Given the description of an element on the screen output the (x, y) to click on. 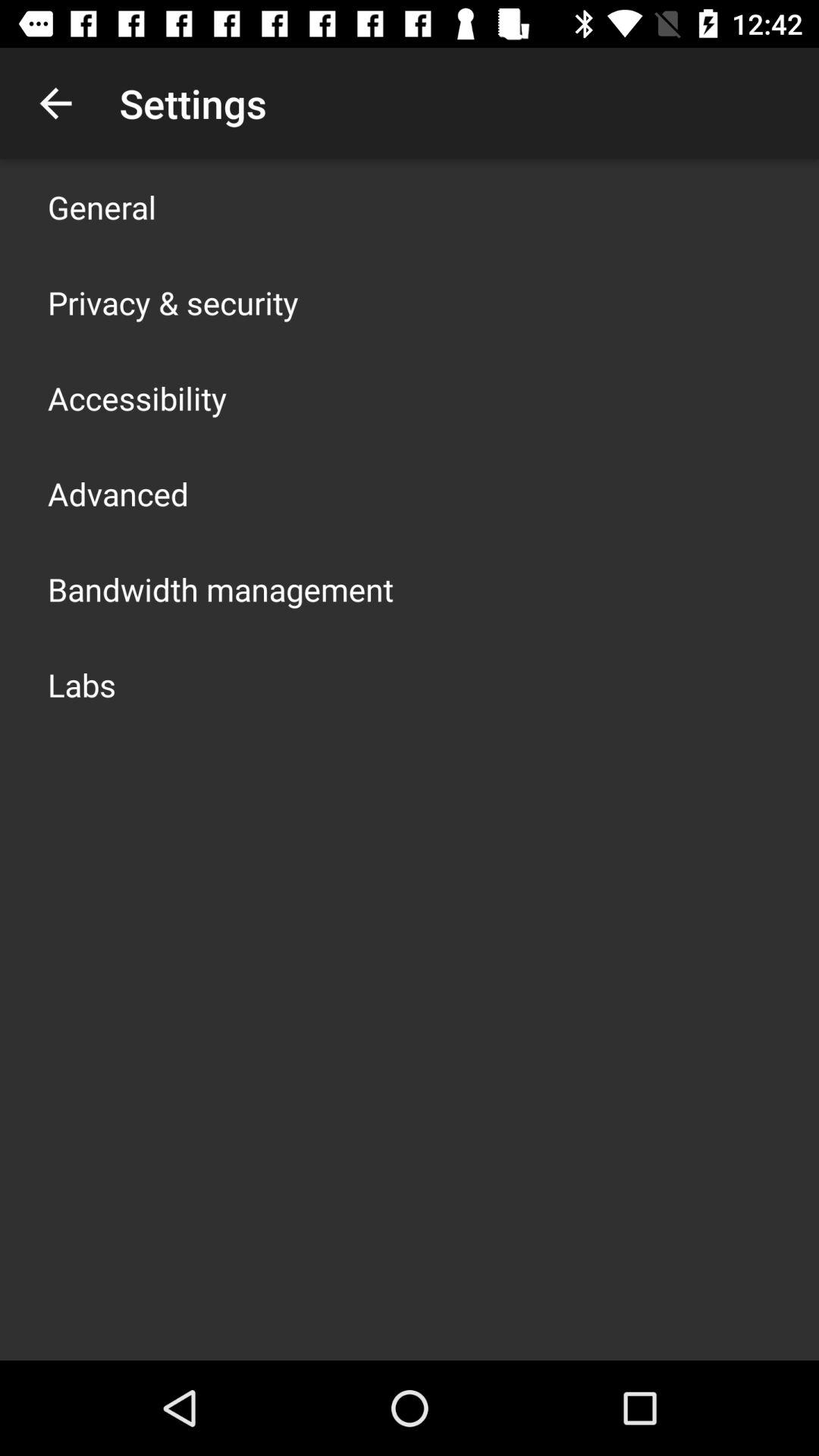
scroll until the bandwidth management app (220, 588)
